Given the description of an element on the screen output the (x, y) to click on. 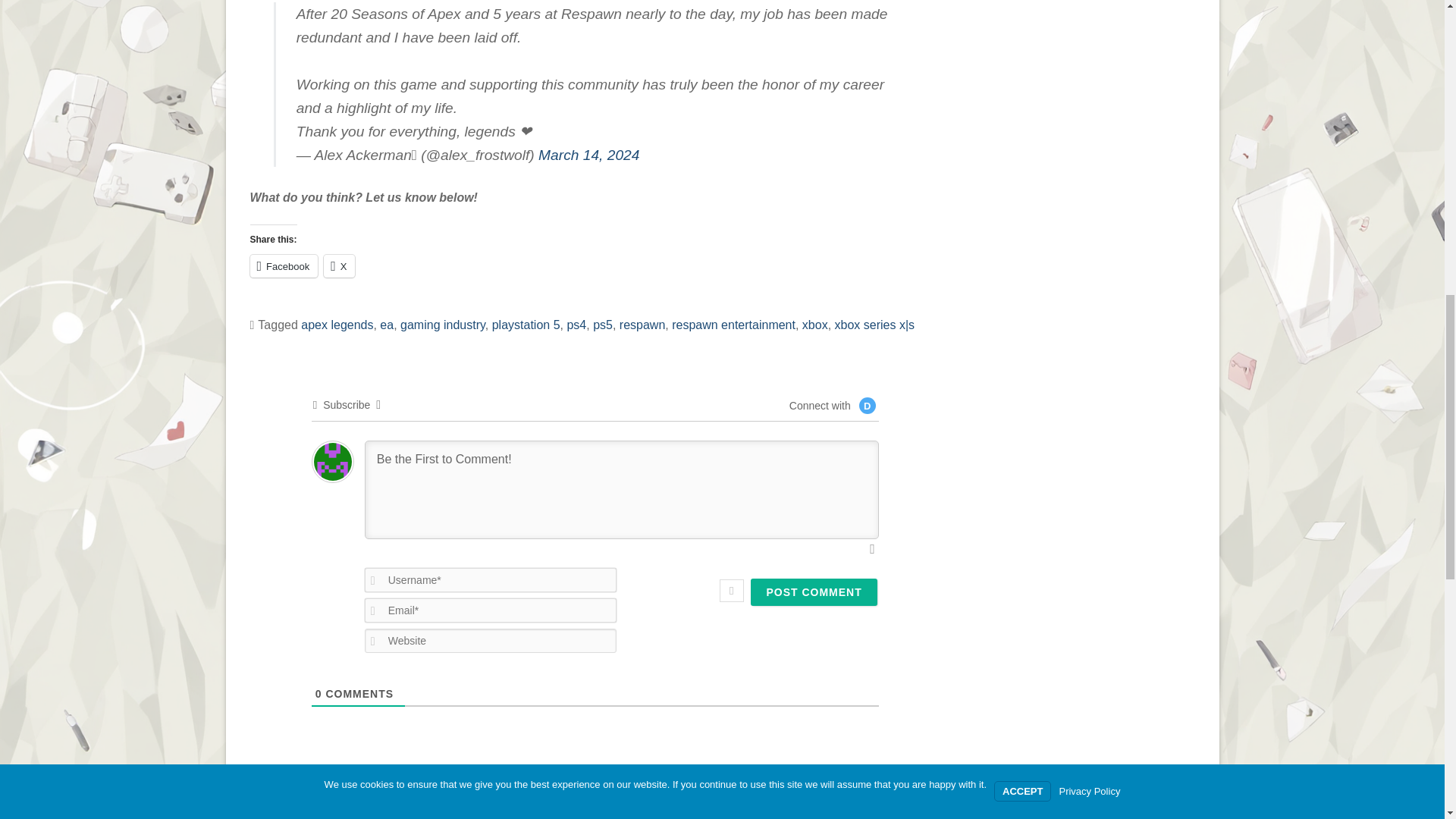
playstation 5 (526, 324)
ea (386, 324)
xbox (815, 324)
apex legends (336, 324)
respawn (642, 324)
gaming industry (442, 324)
ps5 (602, 324)
respawn entertainment (732, 324)
Facebook (284, 265)
Click to share on X (339, 265)
